Given the description of an element on the screen output the (x, y) to click on. 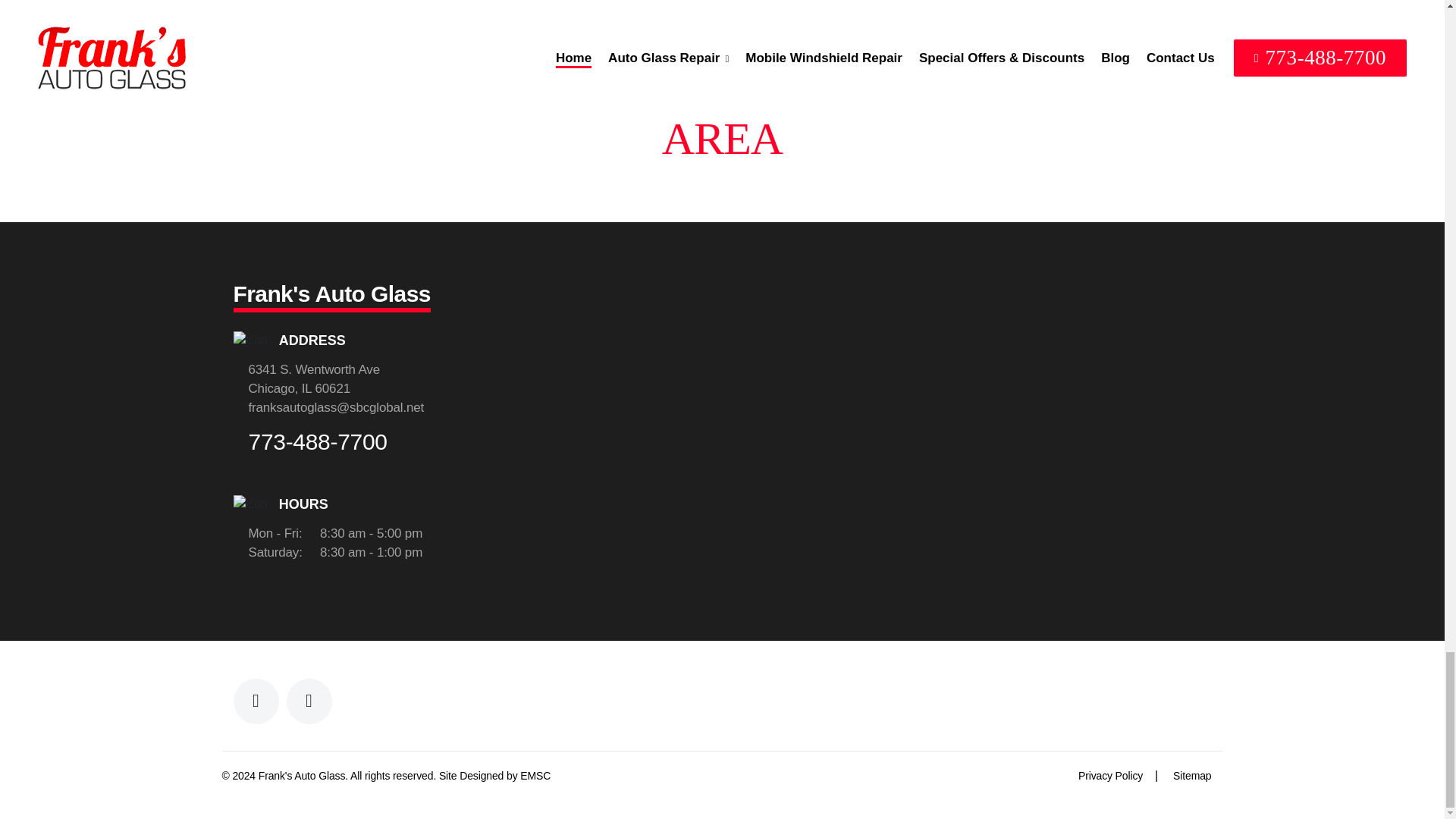
Google (308, 700)
Google (308, 700)
Contact Us (534, 775)
Facebook (255, 700)
EMSC (534, 775)
Sitemap (1192, 775)
Facebook (255, 700)
Sitemap (1192, 775)
Privacy Policy (1110, 775)
773-488-7700 (317, 442)
